Given the description of an element on the screen output the (x, y) to click on. 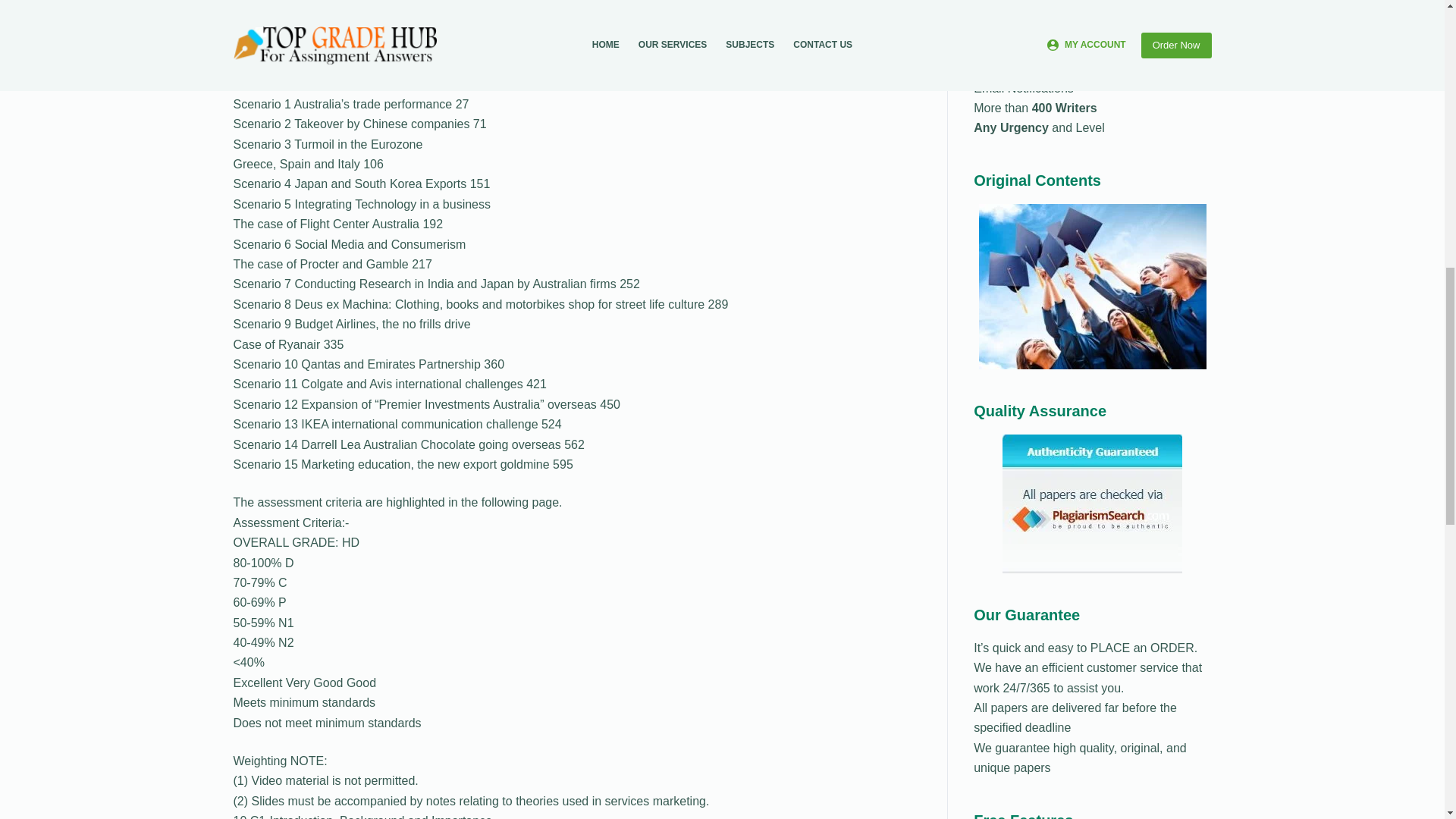
PLACE an ORDER. (1141, 647)
